Given the description of an element on the screen output the (x, y) to click on. 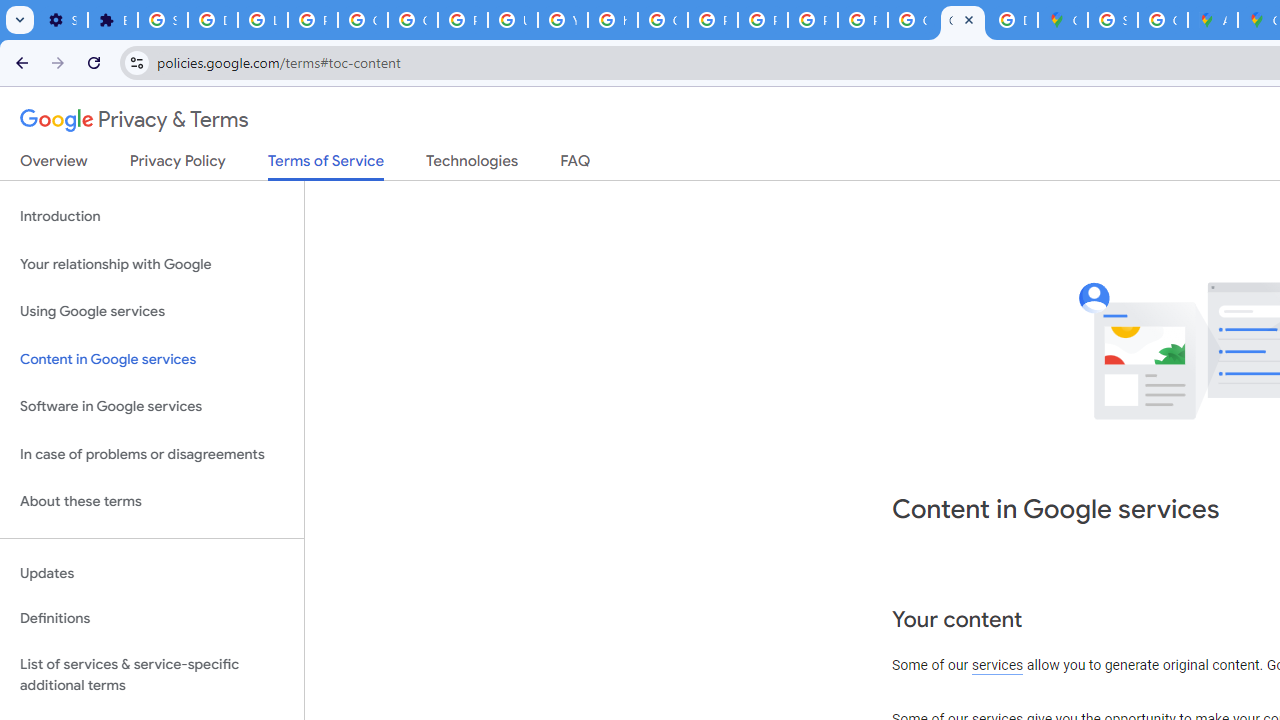
List of services & service-specific additional terms (152, 674)
https://scholar.google.com/ (612, 20)
FAQ (575, 165)
Google Account Help (412, 20)
Learn how to find your photos - Google Photos Help (262, 20)
In case of problems or disagreements (152, 453)
Privacy Policy (177, 165)
Privacy Help Center - Policies Help (712, 20)
